Given the description of an element on the screen output the (x, y) to click on. 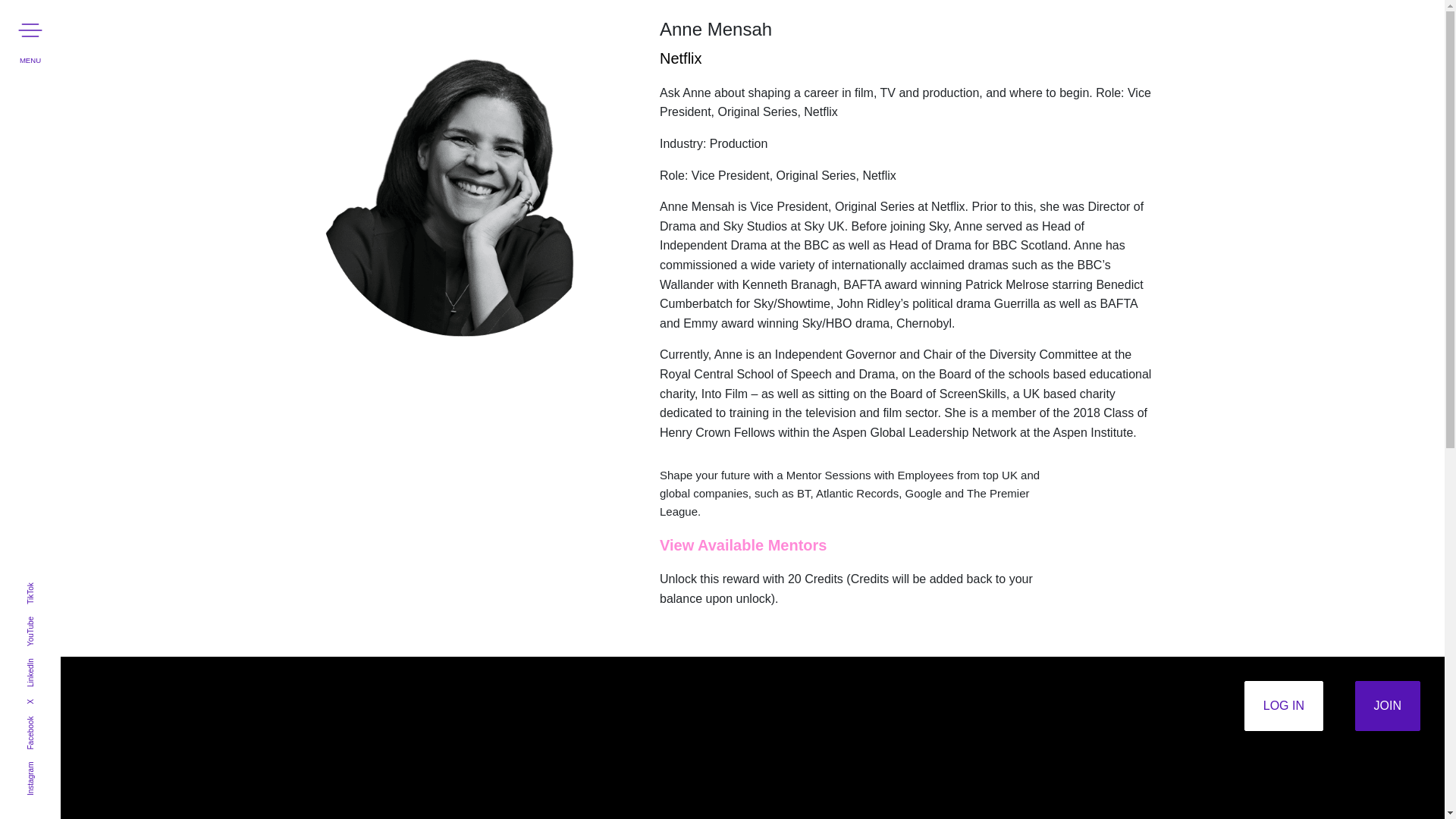
LOG IN (1283, 705)
JOIN (1388, 705)
Instagram (42, 766)
TikTok (37, 586)
MENU (29, 30)
Facebook (42, 720)
LinkedIn (40, 662)
YouTube (40, 620)
View Available Mentors (743, 545)
